Given the description of an element on the screen output the (x, y) to click on. 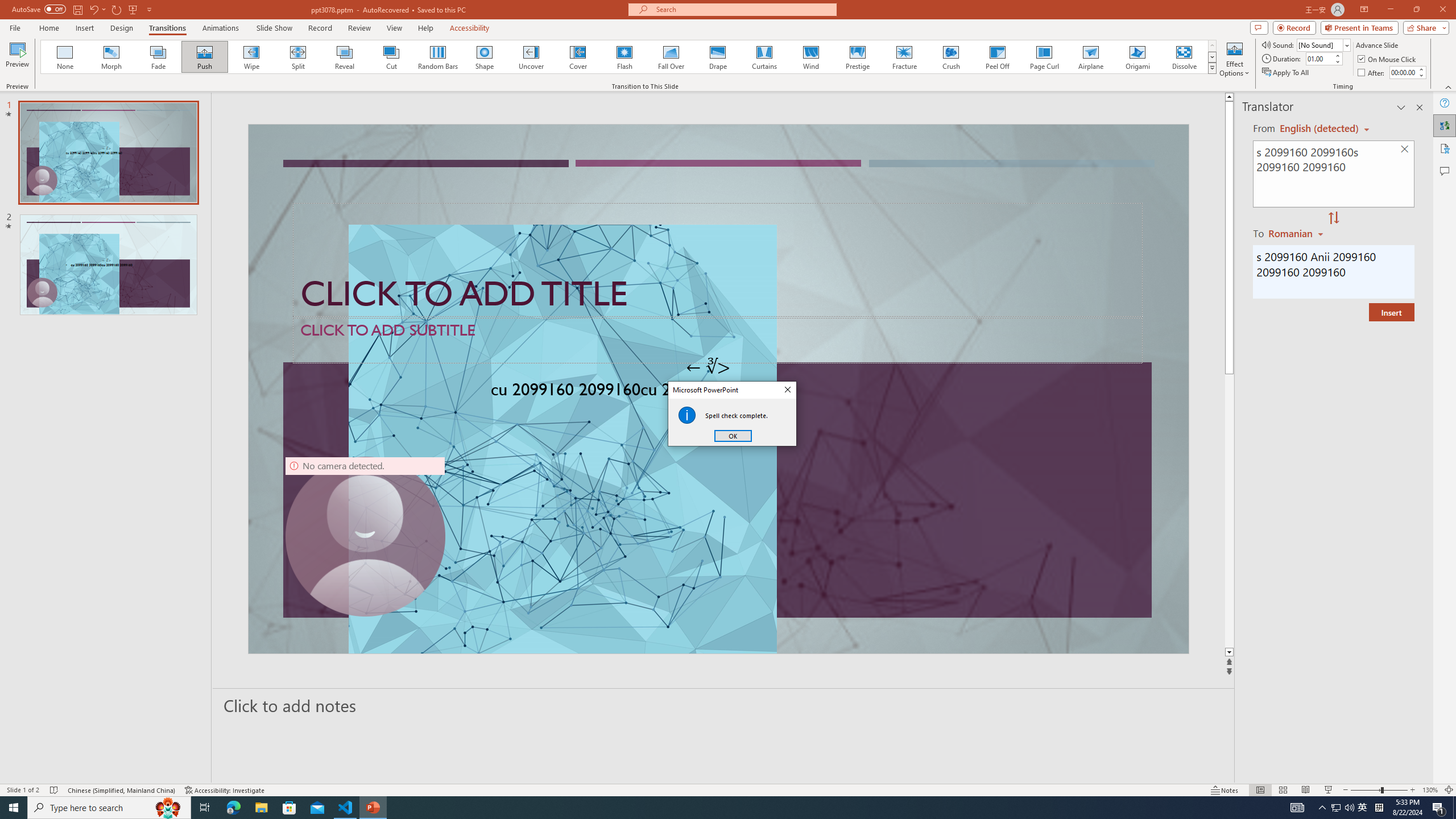
Curtains (764, 56)
Crush (950, 56)
Transition Effects (1212, 67)
Class: Static (686, 415)
